Given the description of an element on the screen output the (x, y) to click on. 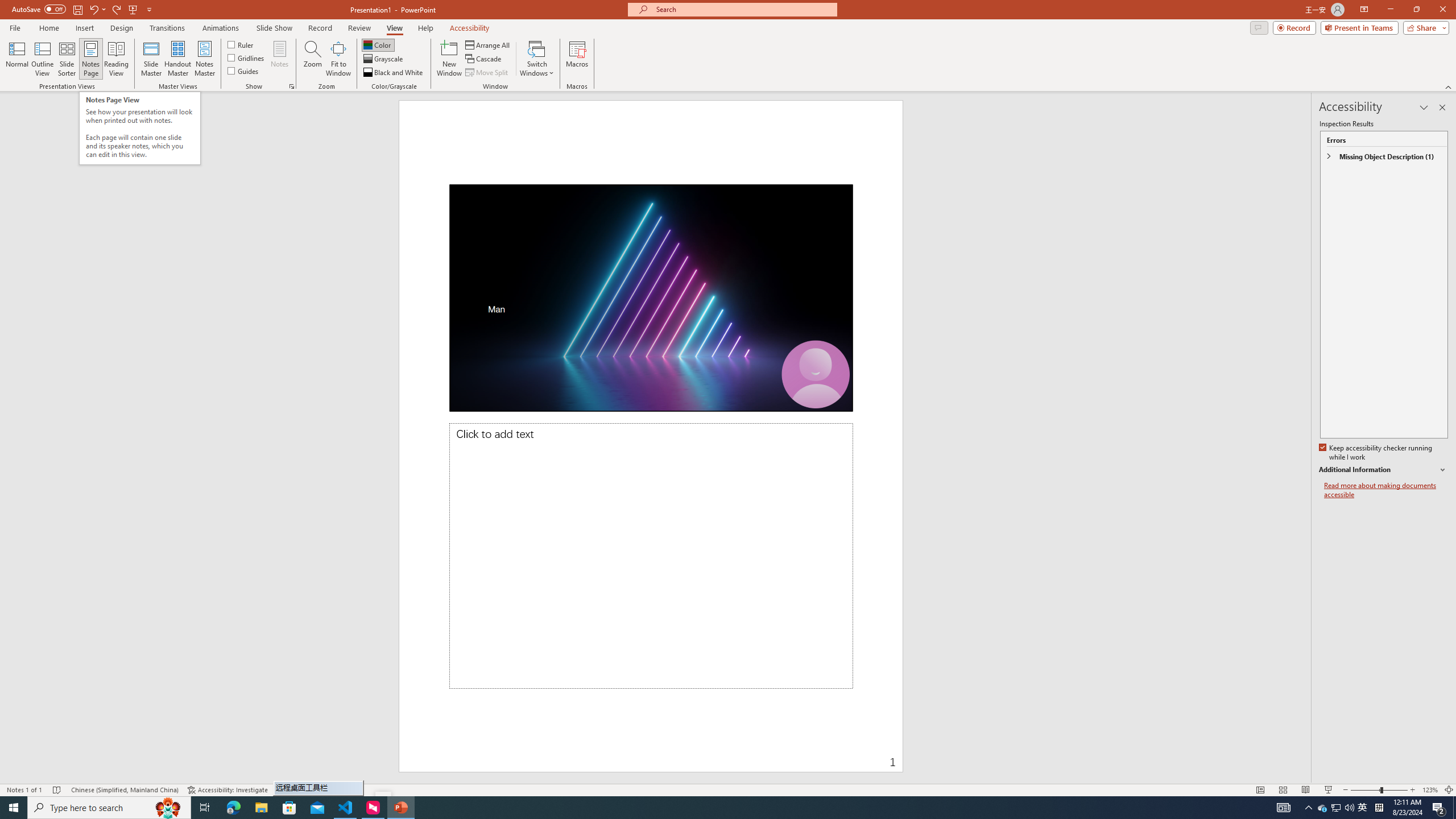
Page Number (793, 754)
